Given the description of an element on the screen output the (x, y) to click on. 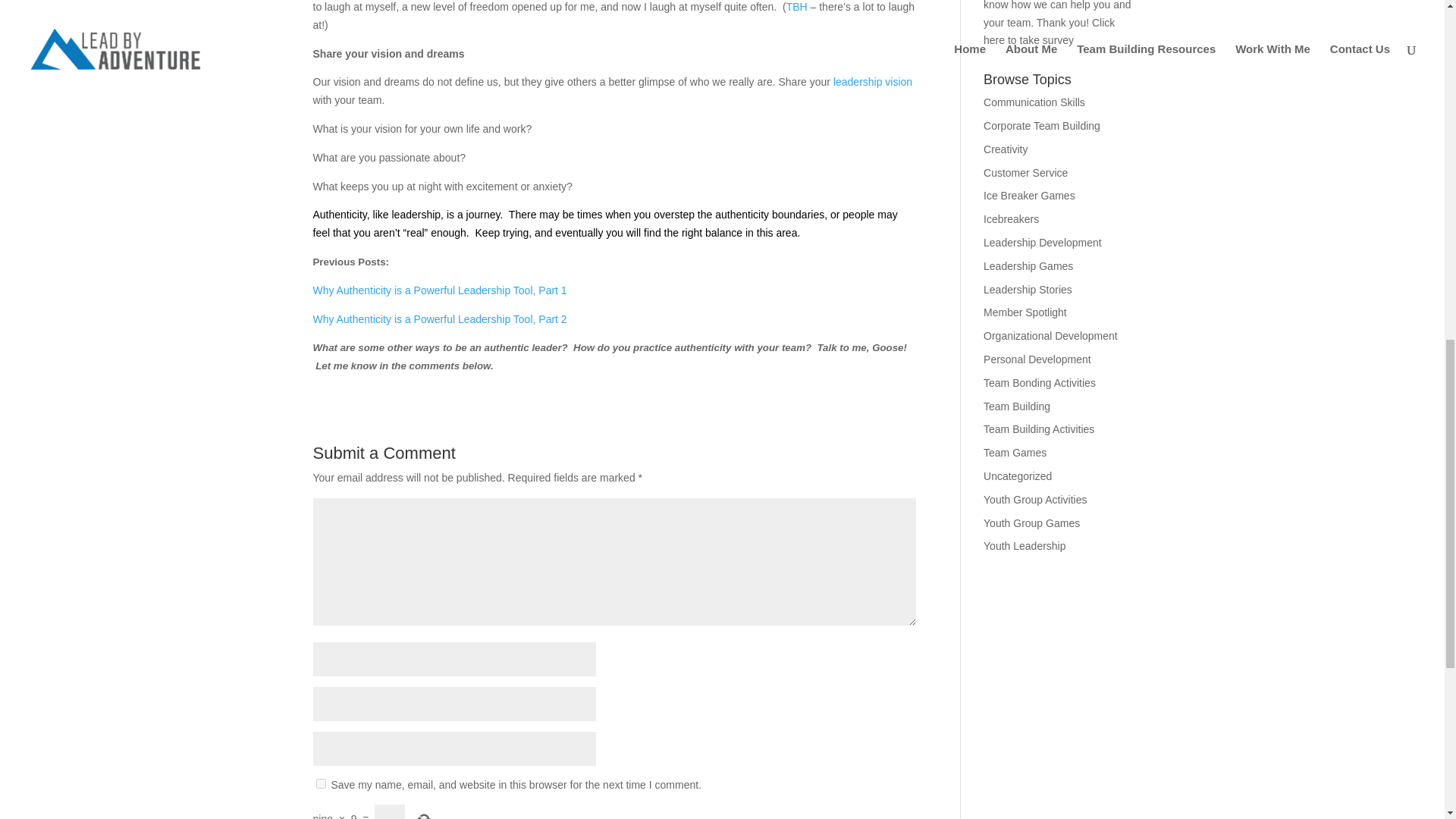
leadership vision (872, 104)
Creativity (1005, 172)
5 Key Traits of Great Leaders (872, 104)
Ice Breaker Games (1029, 218)
Why Authenticity is a Powerful Leadership Tool, Part 2 (439, 341)
Corporate Team Building (1042, 148)
yes (319, 806)
Click here to take survey (1049, 54)
TBH  (798, 29)
Why Authenticity is a Powerful Leadership Tool, Part 2 (439, 341)
